Given the description of an element on the screen output the (x, y) to click on. 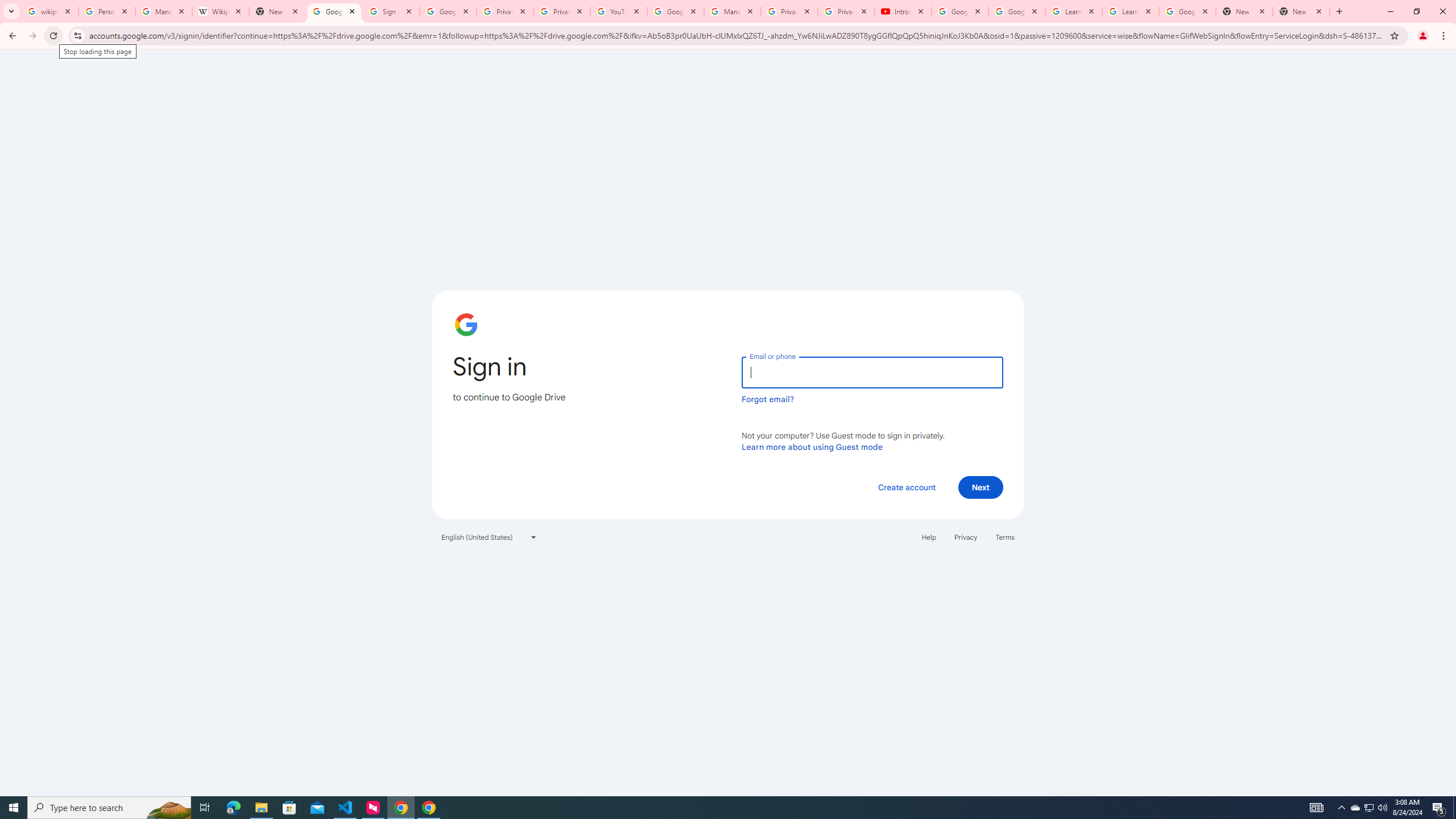
Google Drive: Sign-in (334, 11)
Google Account Help (1015, 11)
Forgot email? (767, 398)
English (United States) (489, 536)
Personalization & Google Search results - Google Search Help (105, 11)
Create account (905, 486)
YouTube (618, 11)
Learn more about using Guest mode (812, 446)
Email or phone (871, 372)
New Tab (1244, 11)
